Given the description of an element on the screen output the (x, y) to click on. 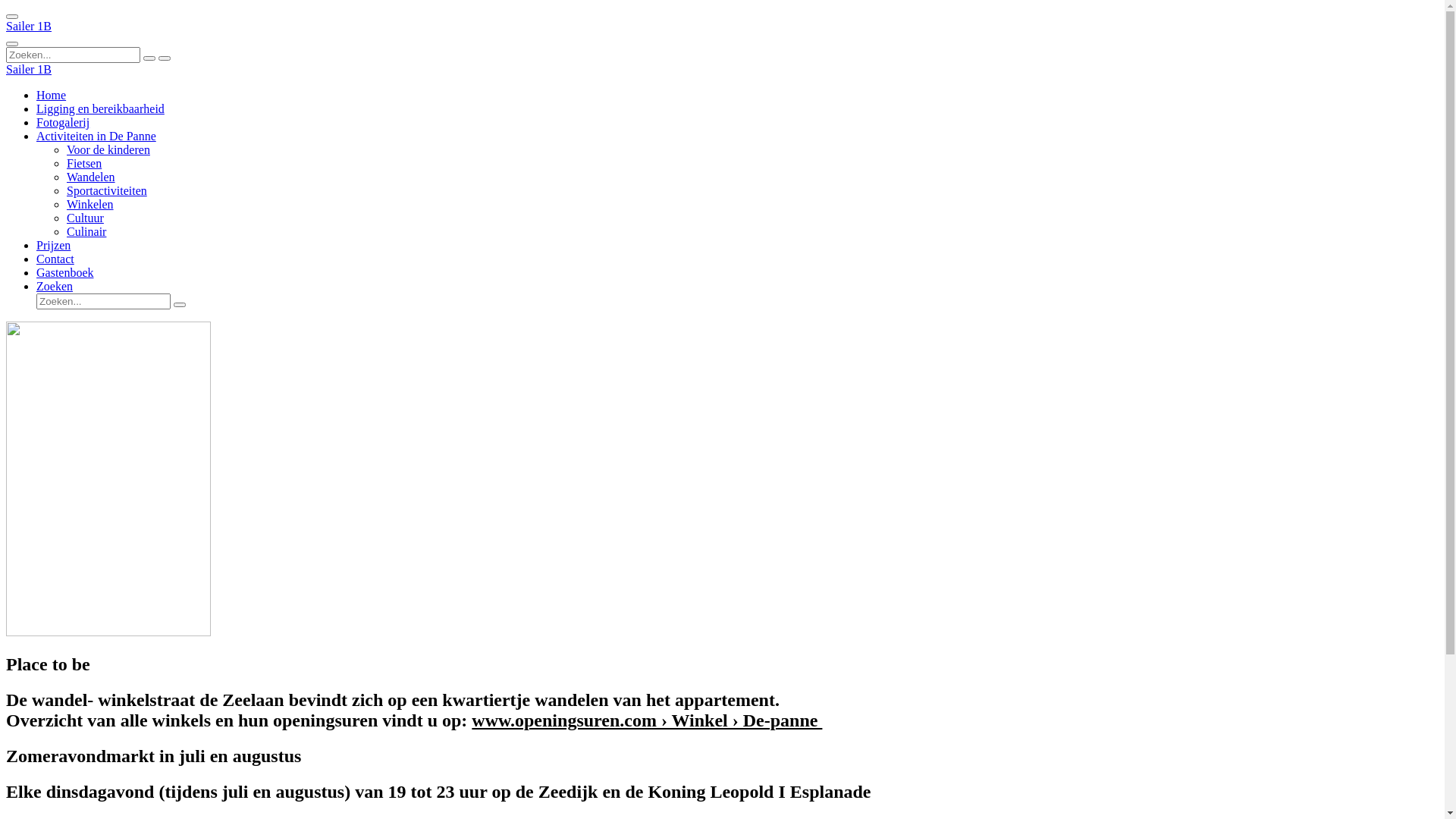
Fotogalerij Element type: text (62, 122)
Contact Element type: text (55, 258)
Culinair Element type: text (86, 231)
Gastenboek Element type: text (65, 272)
Wandelen Element type: text (90, 176)
Fietsen Element type: text (83, 162)
Zoeken Element type: text (54, 285)
Home Element type: text (50, 94)
Cultuur Element type: text (84, 217)
Voor de kinderen Element type: text (108, 149)
Activiteiten in De Panne Element type: text (96, 135)
Sailer 1B Element type: text (28, 25)
Sportactiviteiten Element type: text (106, 190)
Sailer 1B Element type: text (28, 68)
Prijzen Element type: text (53, 244)
Ligging en bereikbaarheid Element type: text (100, 108)
Winkelen Element type: text (89, 203)
